Given the description of an element on the screen output the (x, y) to click on. 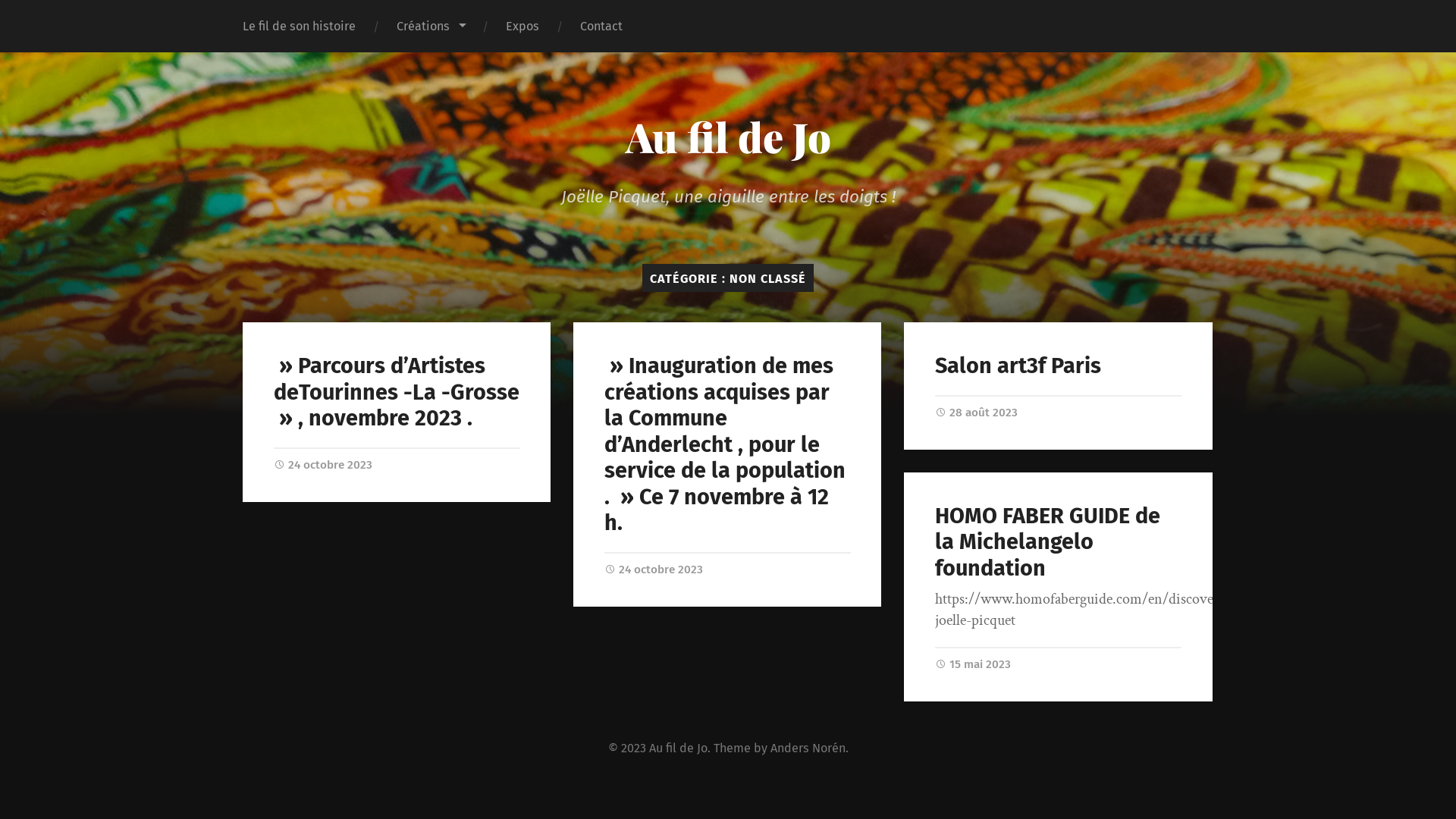
Le fil de son histoire Element type: text (299, 26)
Expos Element type: text (522, 26)
24 octobre 2023 Element type: text (322, 464)
15 mai 2023 Element type: text (972, 664)
Salon art3f Paris Element type: text (1018, 365)
24 octobre 2023 Element type: text (653, 569)
Contact Element type: text (601, 26)
Au fil de Jo Element type: text (727, 136)
Au fil de Jo Element type: text (678, 747)
HOMO FABER GUIDE de la Michelangelo foundation Element type: text (1047, 541)
